Given the description of an element on the screen output the (x, y) to click on. 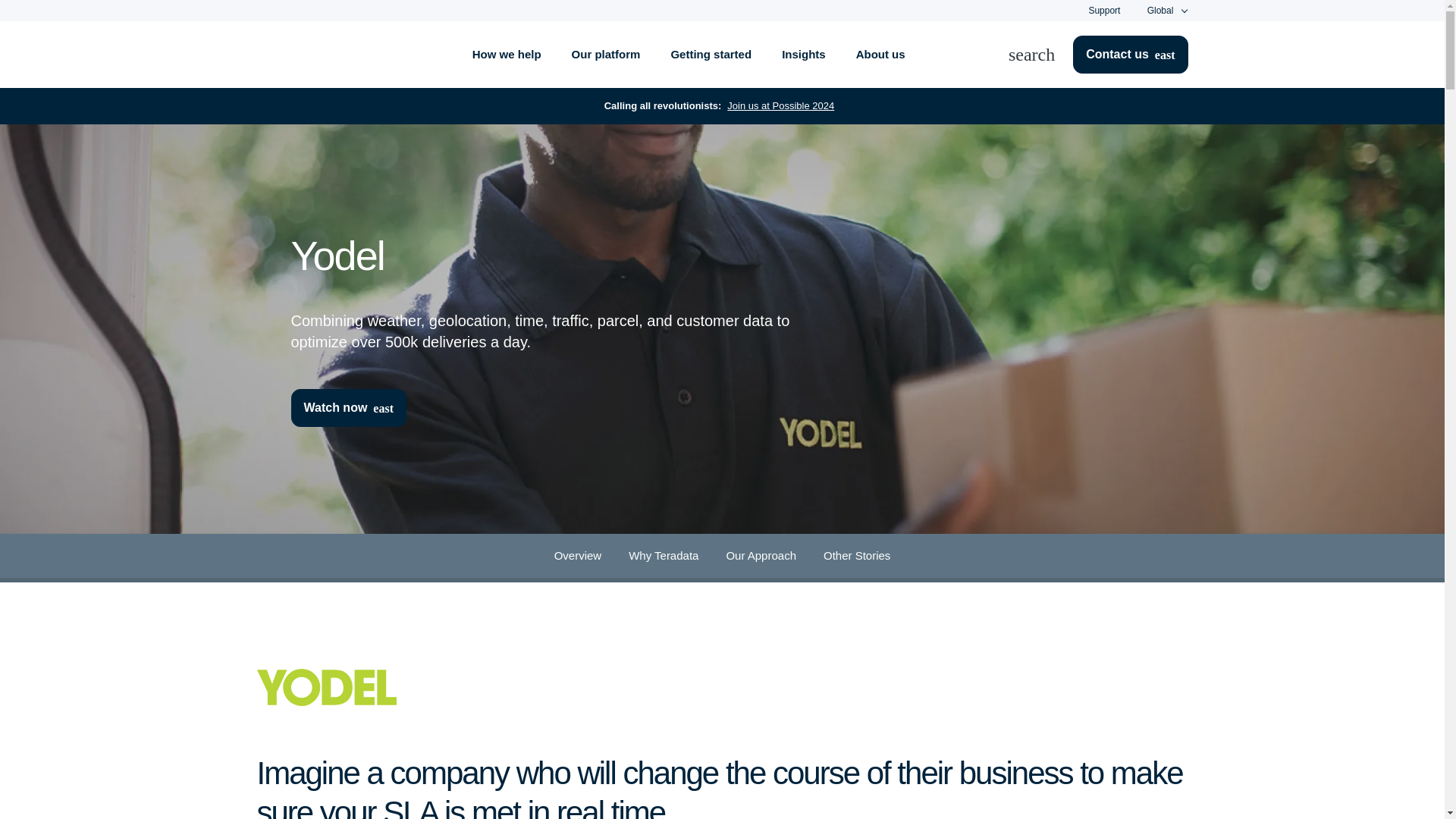
Getting started (711, 54)
Support (1103, 9)
How we help (506, 54)
Global (1160, 10)
About us (880, 54)
Our platform (606, 54)
Contact us (1130, 54)
Insights (804, 54)
search (1041, 54)
